Given the description of an element on the screen output the (x, y) to click on. 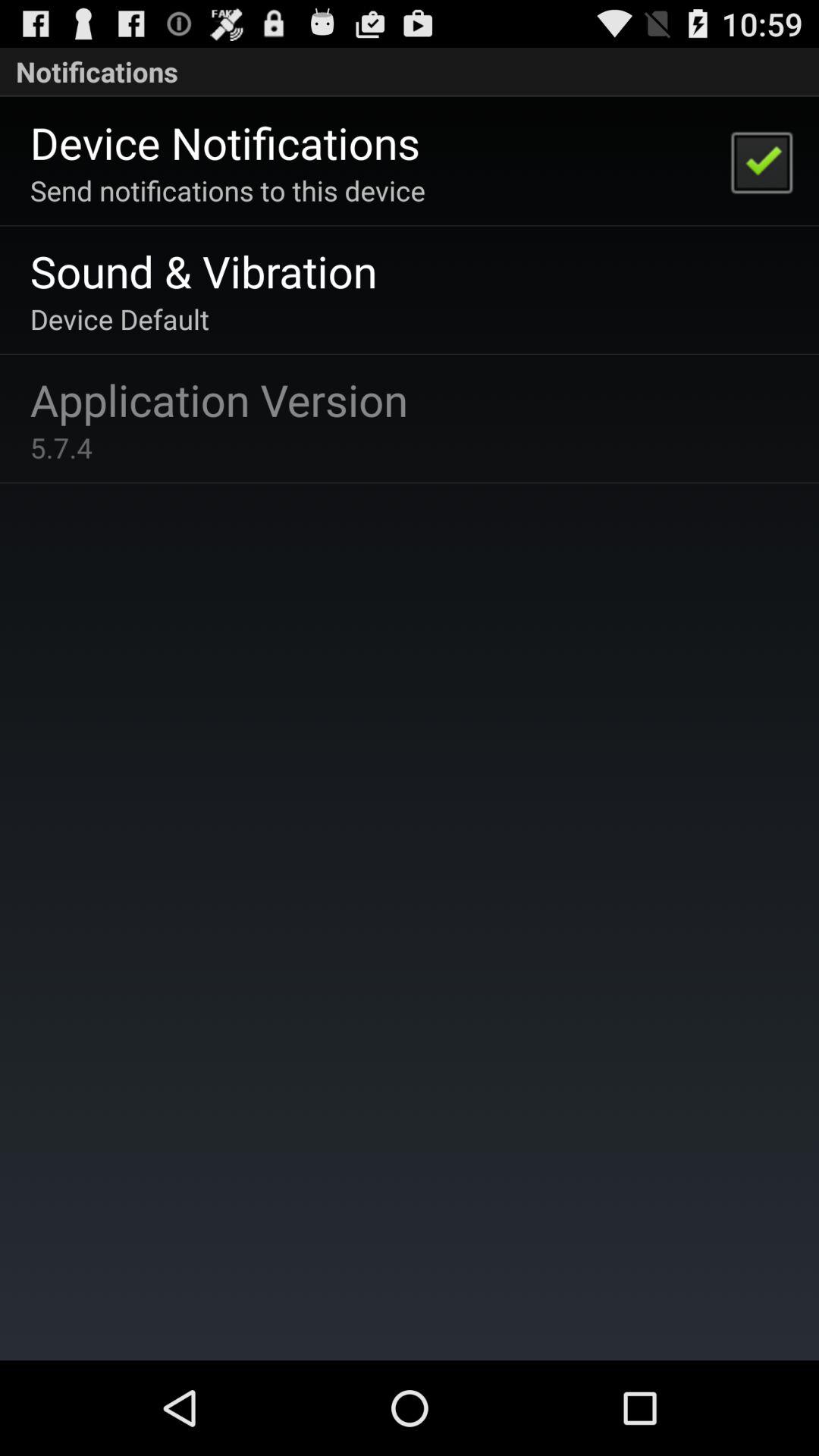
turn off the item to the right of the send notifications to app (761, 161)
